Given the description of an element on the screen output the (x, y) to click on. 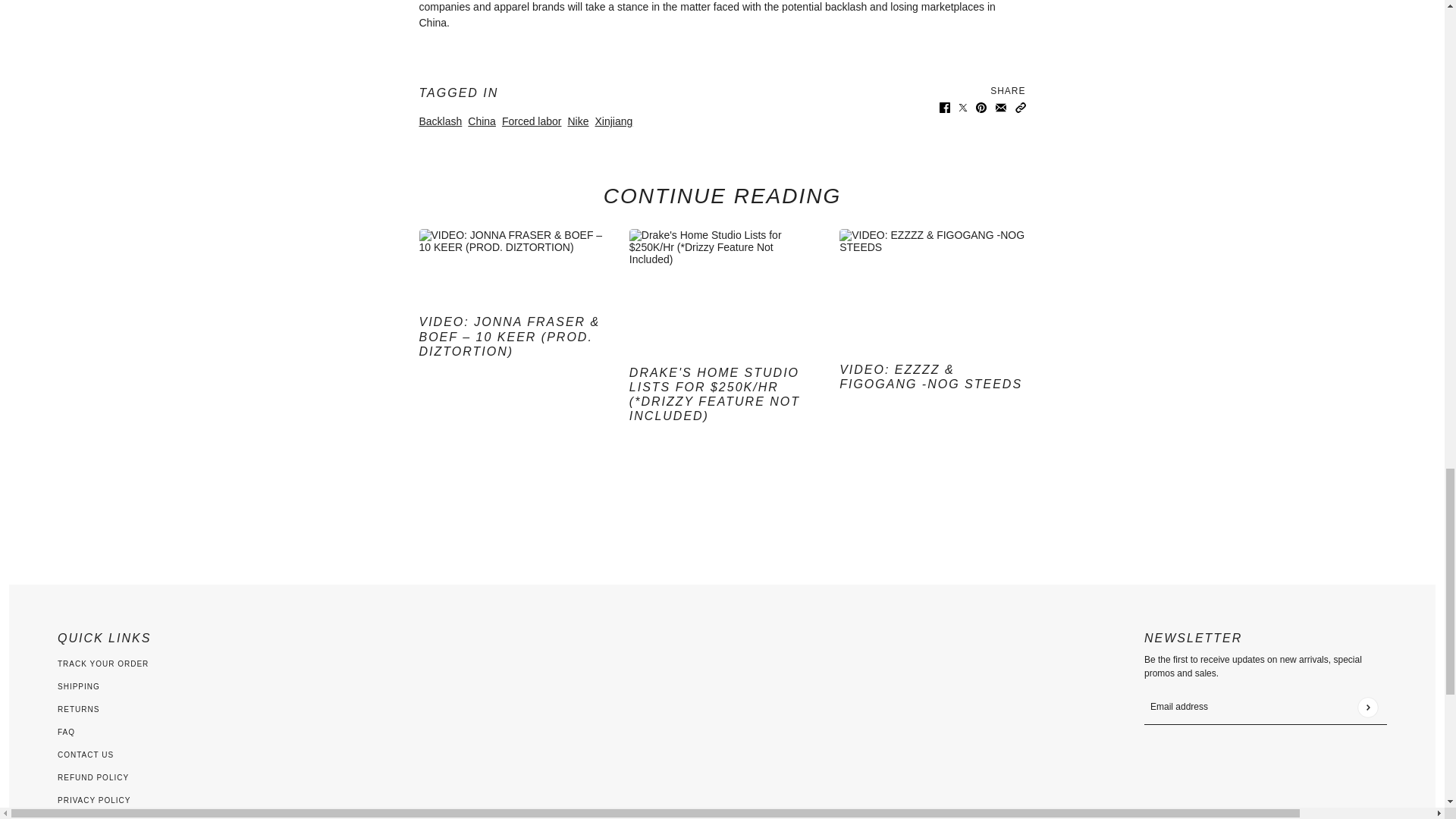
Refund policy (93, 777)
Shipping (79, 686)
Privacy policy (94, 800)
FAQ (66, 732)
Contact us (85, 755)
Returns (78, 709)
Track your order (103, 664)
